Given the description of an element on the screen output the (x, y) to click on. 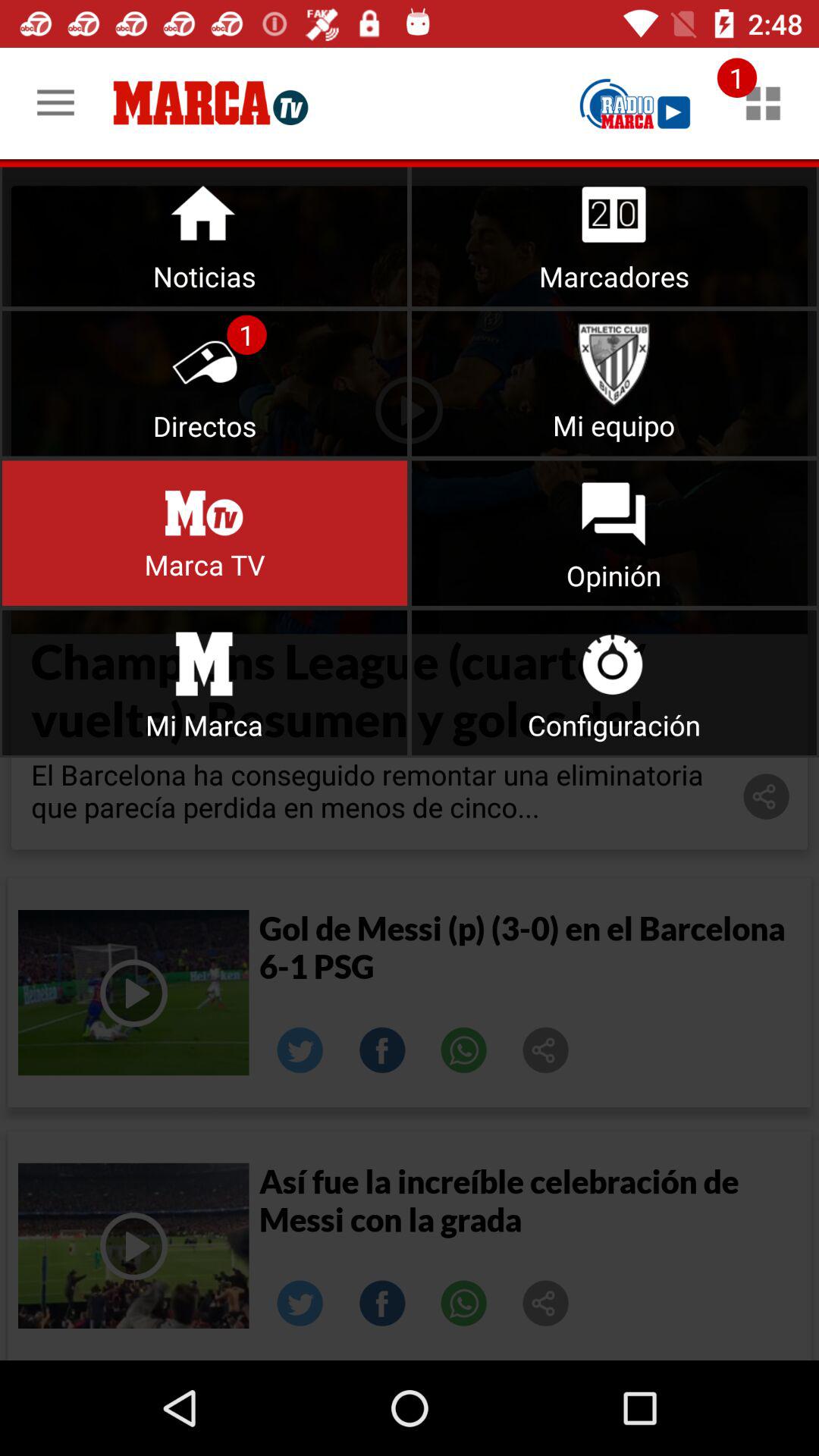
share the twitter (300, 1050)
